Given the description of an element on the screen output the (x, y) to click on. 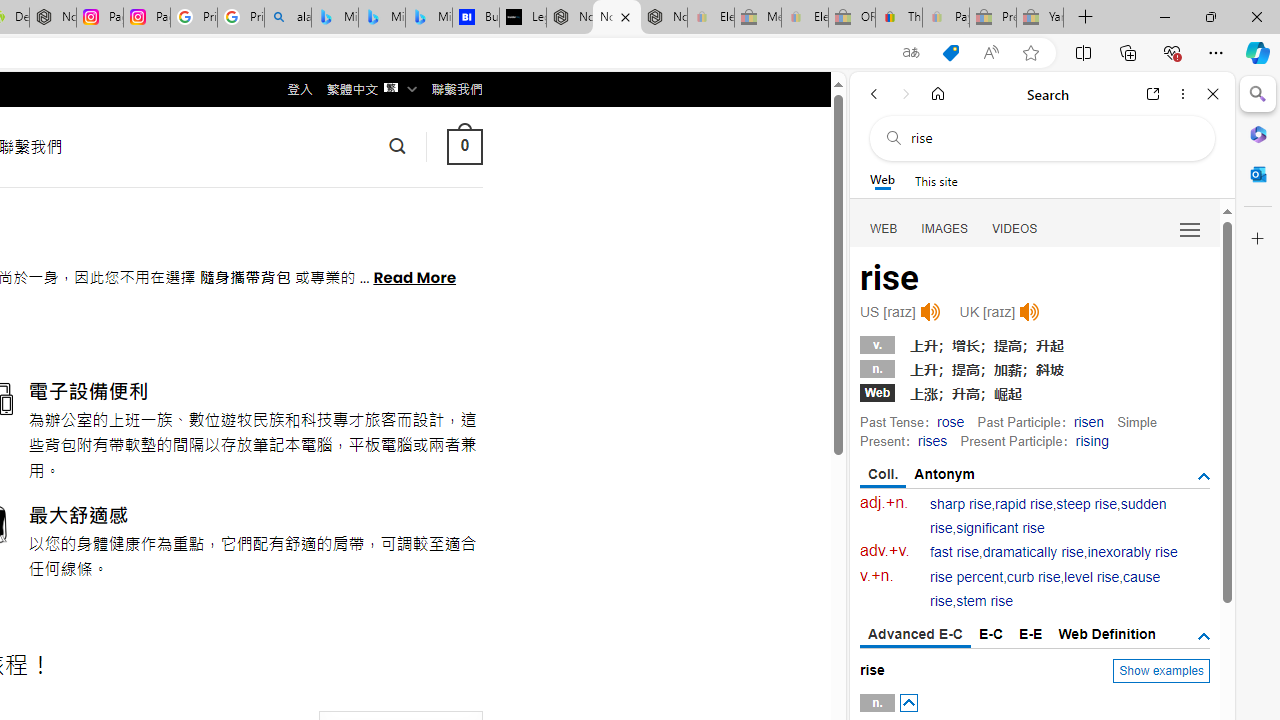
Search Filter, IMAGES (944, 228)
stem rise (984, 601)
 0  (464, 146)
dramatically rise (1032, 552)
Show translate options (910, 53)
Web Definition (1106, 633)
Coll. (883, 475)
